Given the description of an element on the screen output the (x, y) to click on. 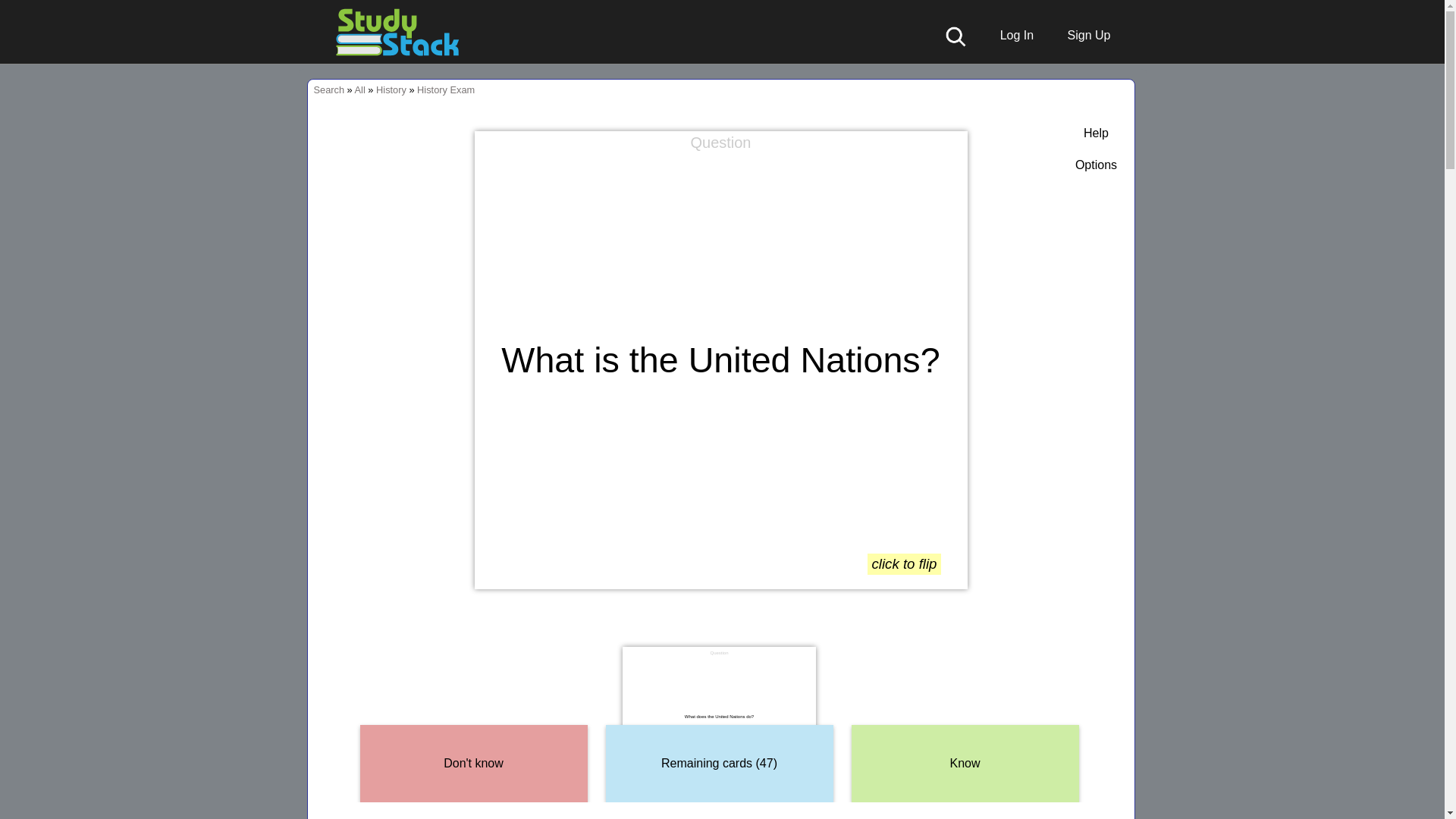
History Exam (445, 89)
Click here or press left arrow if you do not know the card (472, 763)
Click here or press right arrow if you know the card (964, 763)
Show options (1096, 165)
Log In (1009, 35)
speak card (949, 149)
Show helpful tips (1096, 133)
Sign Up (1081, 35)
Search (329, 89)
